Given the description of an element on the screen output the (x, y) to click on. 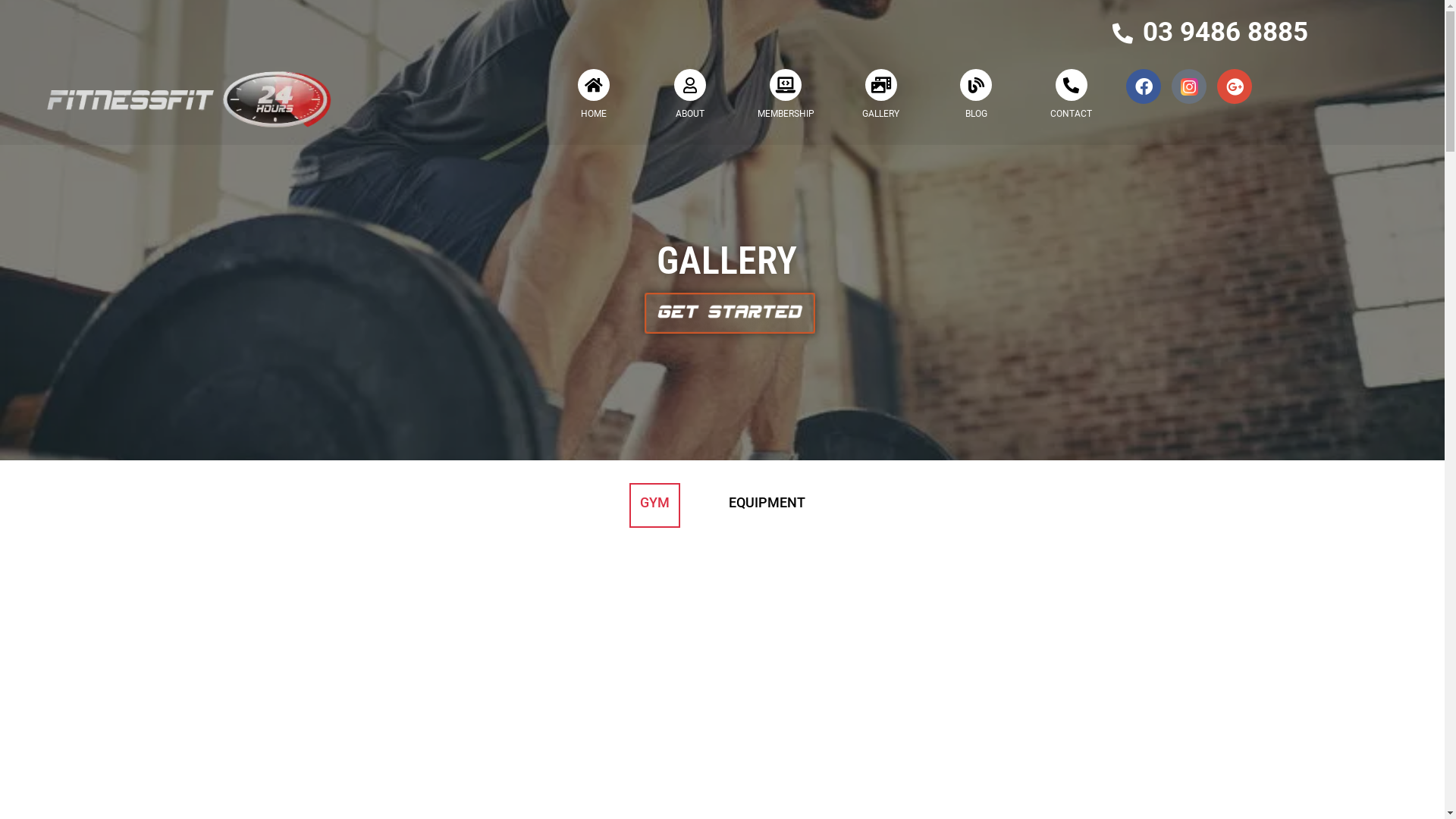
HOME Element type: text (593, 113)
EQUIPMENT Element type: text (766, 505)
GALLERY Element type: text (880, 113)
GYM Element type: text (654, 505)
03 9486 8885 Element type: text (1221, 31)
MEMBERSHIP Element type: text (785, 113)
CONTACT Element type: text (1071, 113)
BLOG Element type: text (976, 113)
ABOUT Element type: text (689, 113)
